Given the description of an element on the screen output the (x, y) to click on. 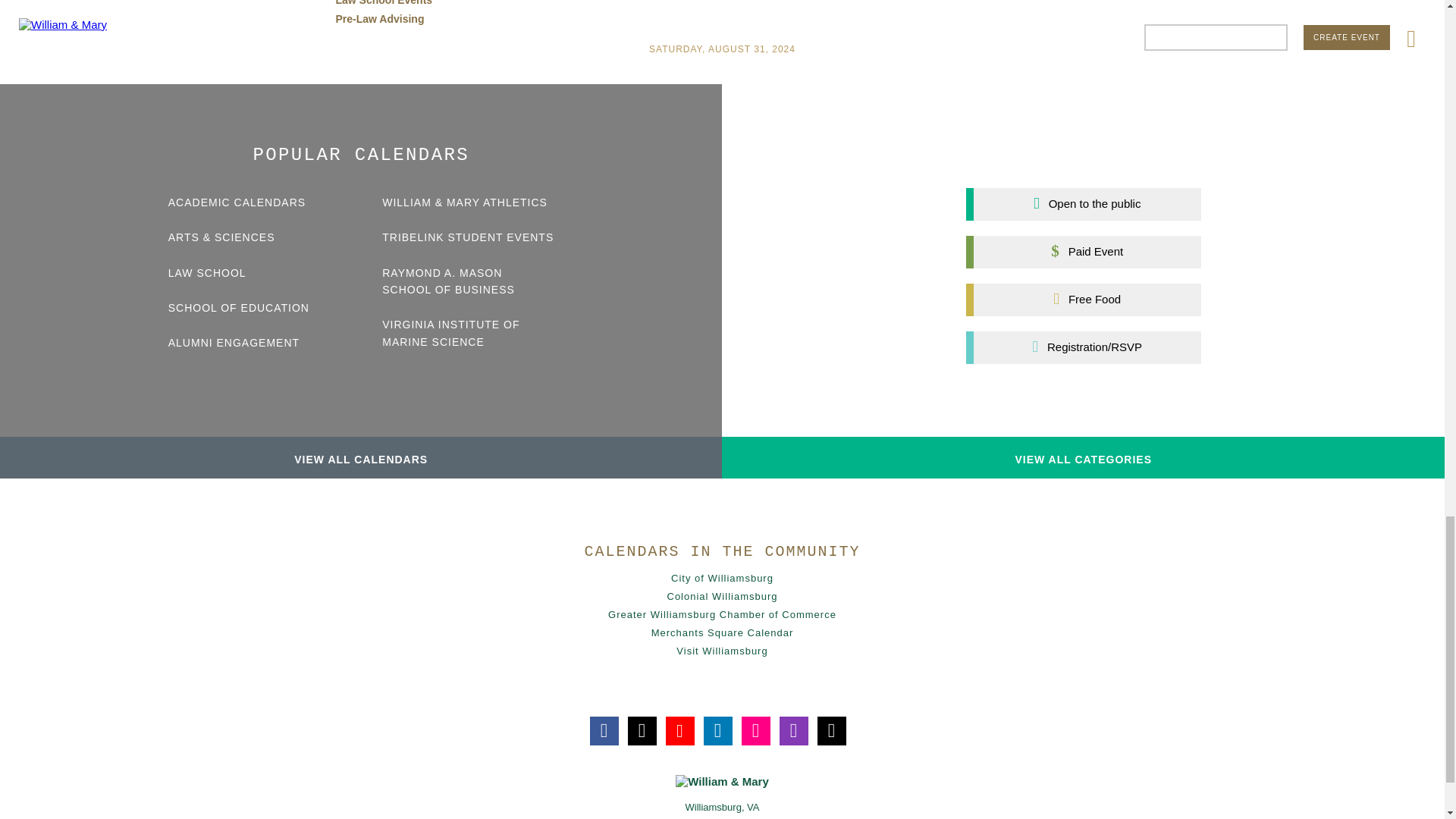
Flickr (755, 730)
YouTube (679, 730)
LinkedIn (717, 730)
Facebook (603, 730)
Pre-Law Advising (378, 19)
Threads (830, 730)
X (641, 730)
Instagram (793, 730)
Law School Events (383, 2)
